Given the description of an element on the screen output the (x, y) to click on. 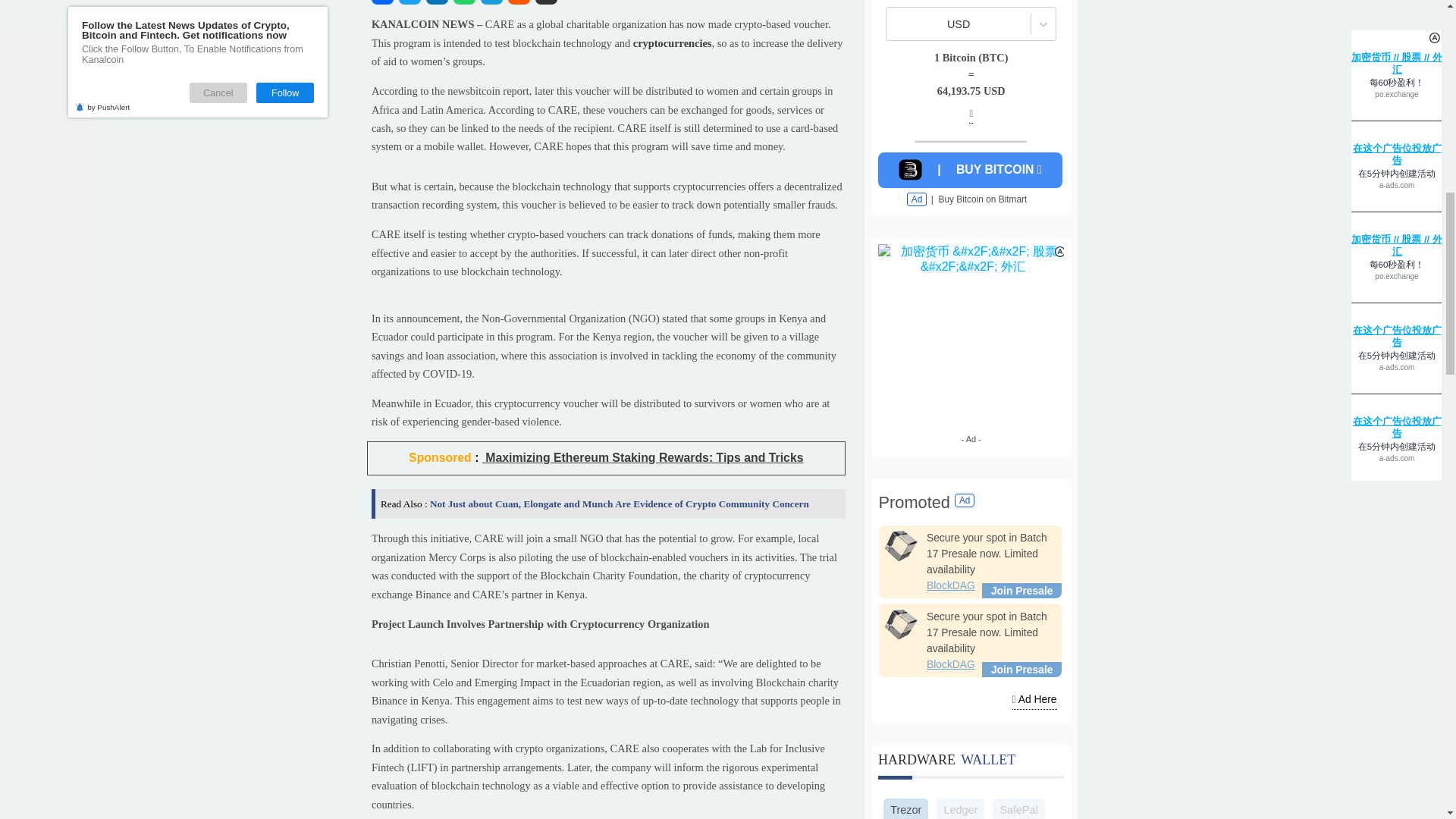
Submit this to Reddit (576, 83)
Add this to LinkedIn (485, 83)
1 (1078, 8)
Short link (606, 83)
Tweet this ! (454, 83)
Telegram (545, 83)
Share this on Facebook (424, 83)
WhatsApp (515, 83)
